Given the description of an element on the screen output the (x, y) to click on. 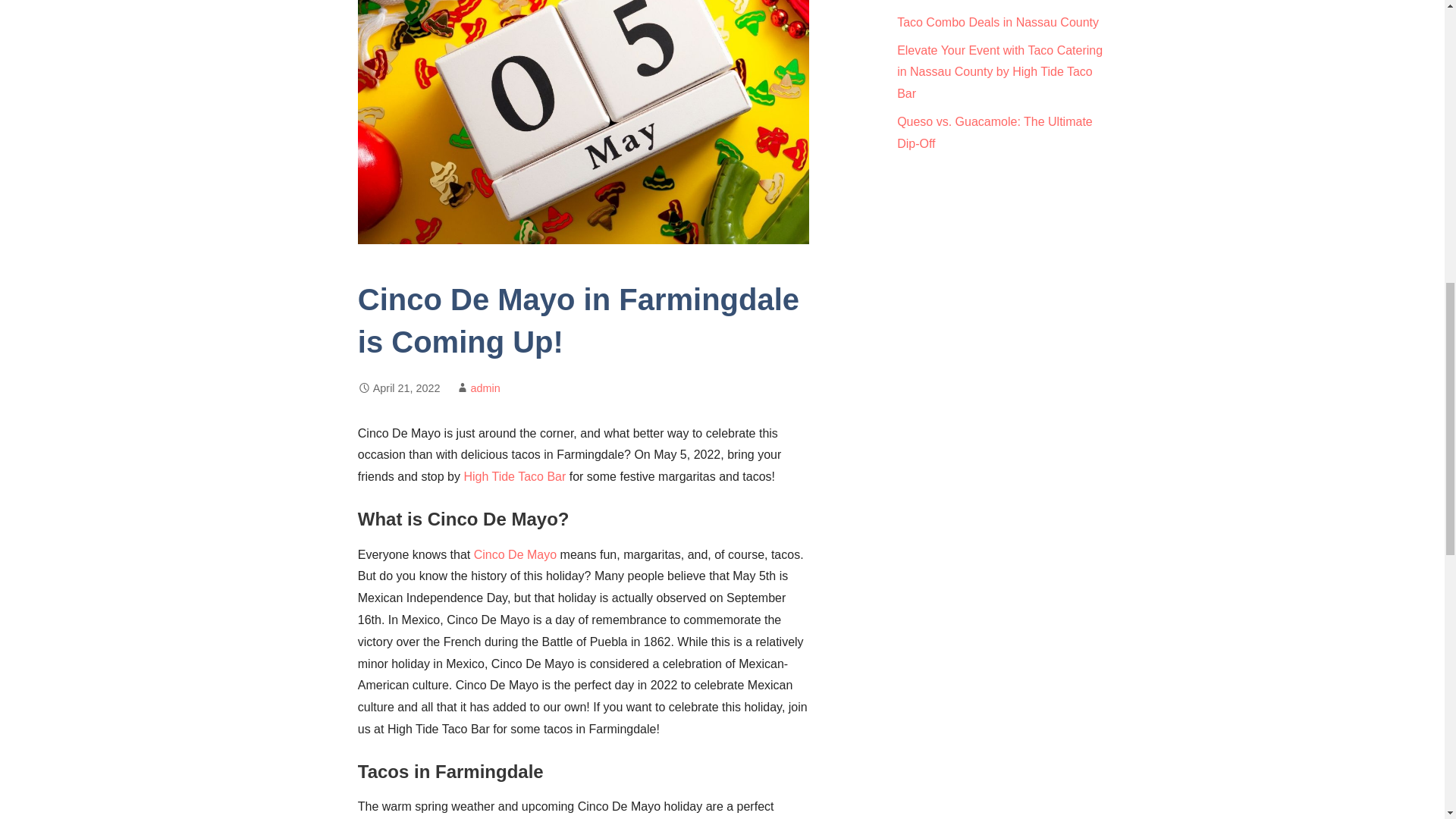
High Tide Taco Bar (514, 476)
Queso vs. Guacamole: The Ultimate Dip-Off (994, 132)
admin (485, 387)
Posts by admin (485, 387)
Cinco De Mayo (515, 554)
Taco Combo Deals in Nassau County (997, 21)
